Given the description of an element on the screen output the (x, y) to click on. 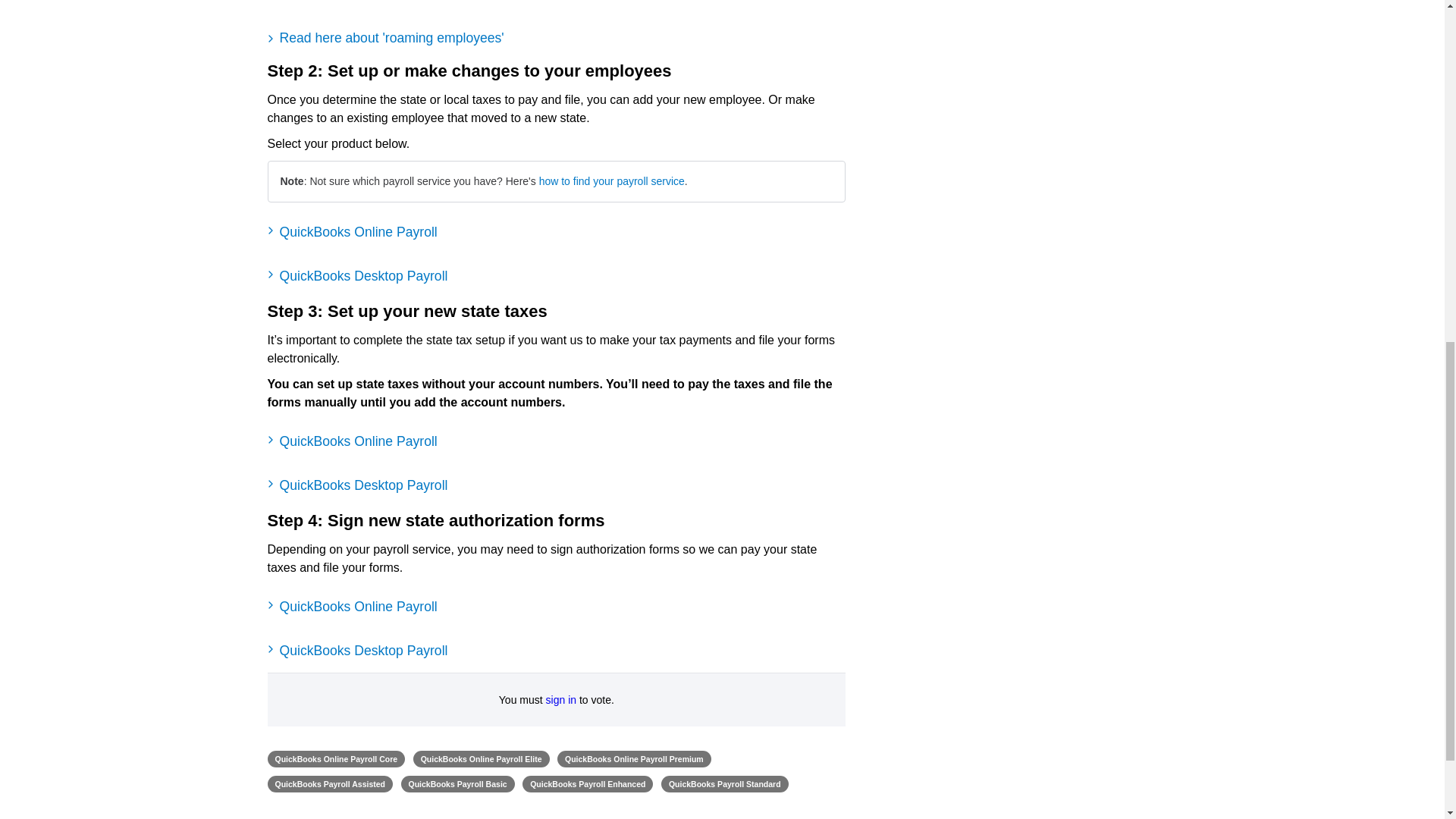
QuickBooks Online Payroll (555, 606)
QuickBooks Online Payroll (555, 231)
QuickBooks Desktop Payroll (555, 484)
sign in (561, 699)
Read here about 'roaming employees' (555, 38)
QuickBooks Online Payroll (555, 441)
how to find your payroll service (611, 181)
QuickBooks Desktop Payroll (555, 650)
QuickBooks Desktop Payroll (555, 275)
